Given the description of an element on the screen output the (x, y) to click on. 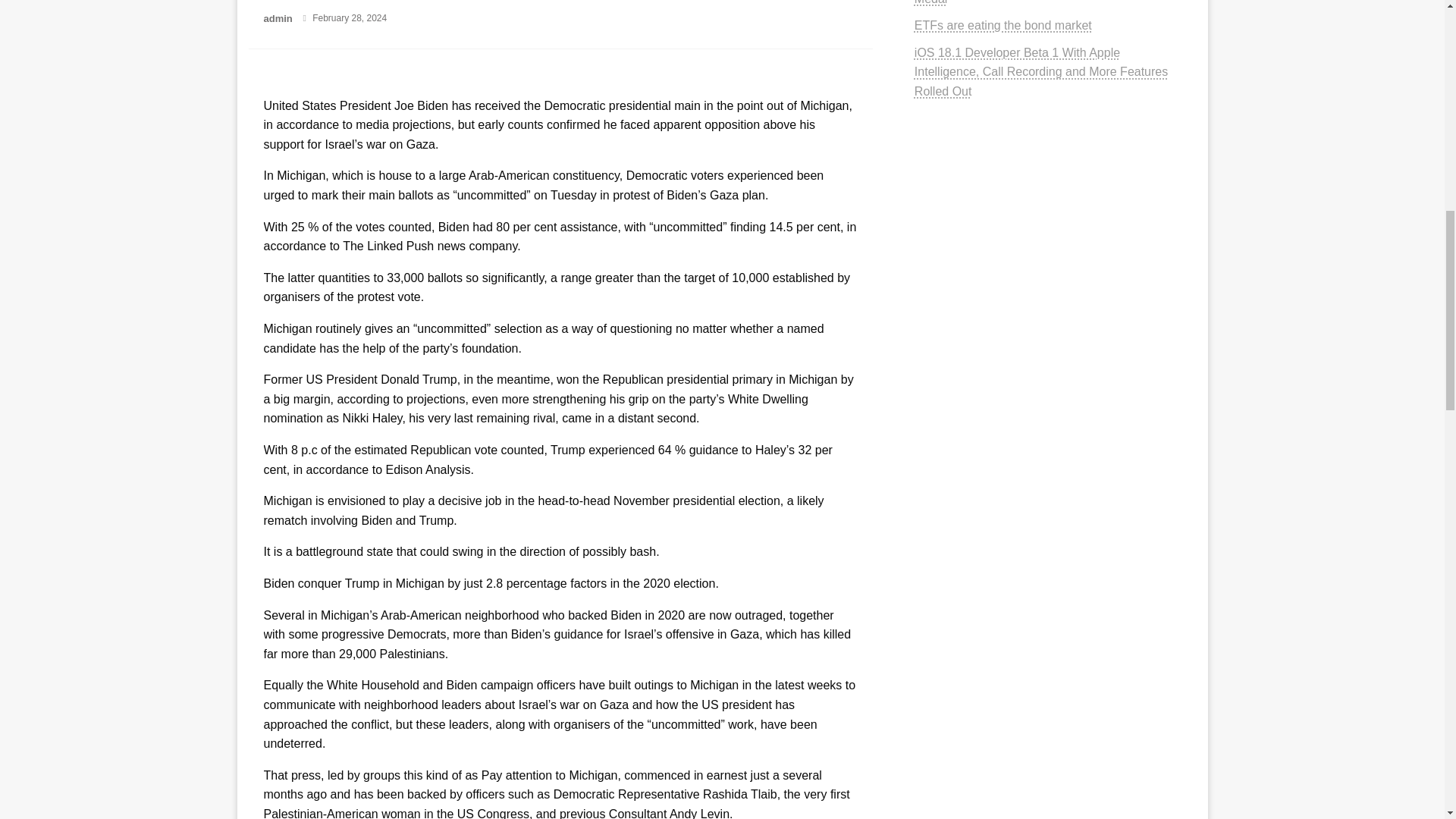
February 28, 2024 (350, 18)
admin (279, 18)
admin (279, 18)
